Given the description of an element on the screen output the (x, y) to click on. 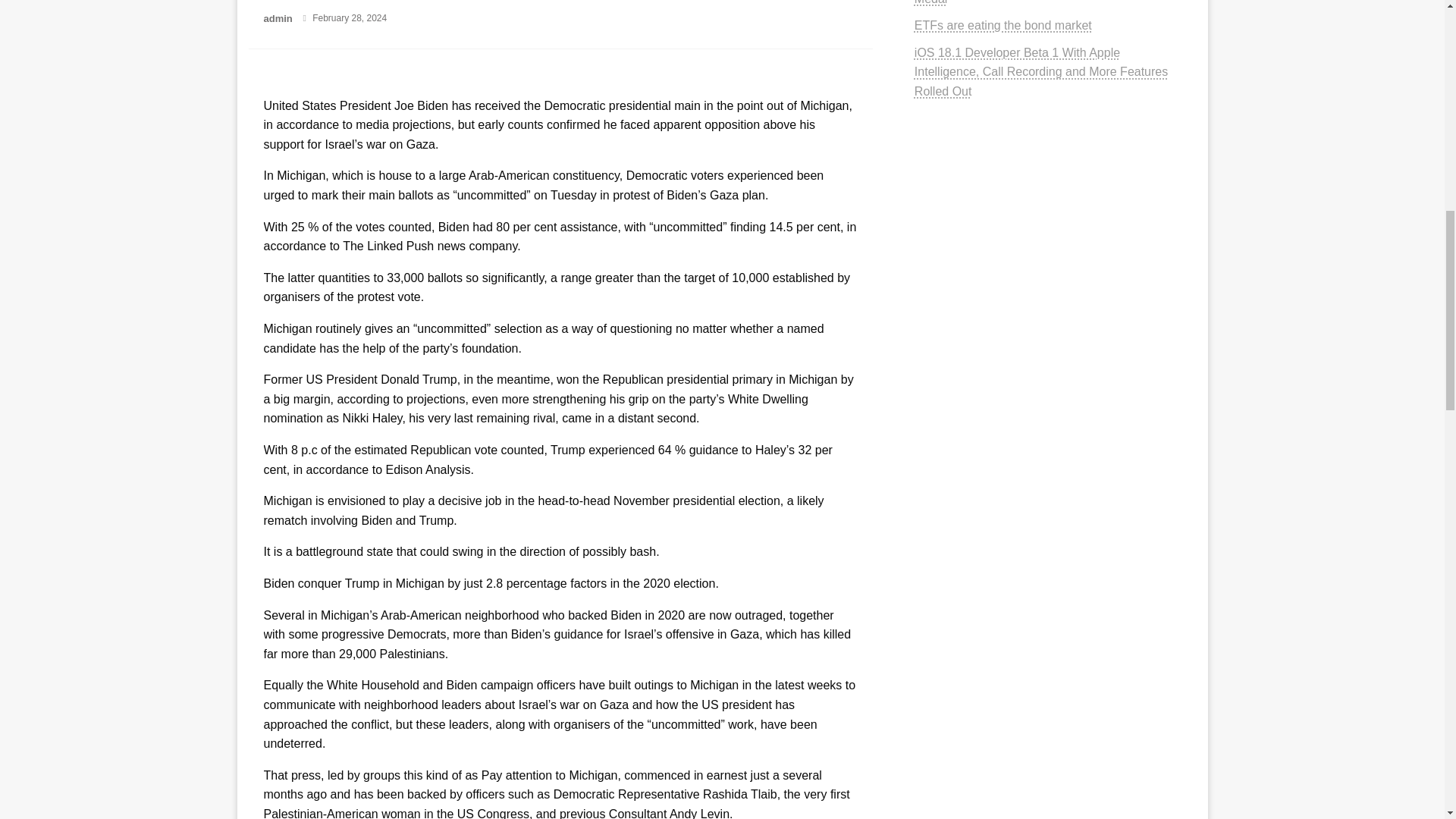
February 28, 2024 (350, 18)
admin (279, 18)
admin (279, 18)
